Given the description of an element on the screen output the (x, y) to click on. 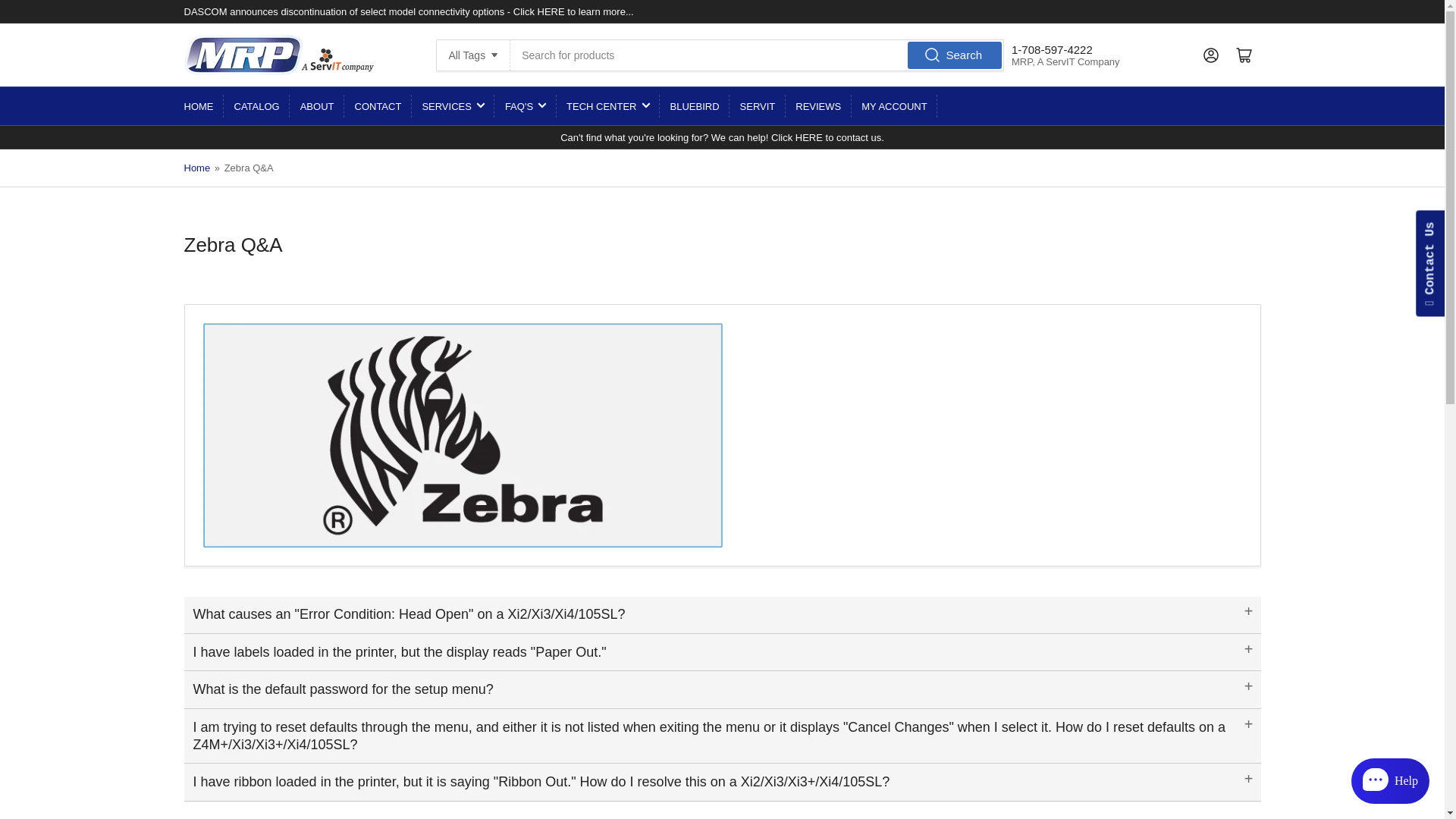
Open mini cart (1243, 54)
Log in (1210, 54)
Search (954, 54)
